Given the description of an element on the screen output the (x, y) to click on. 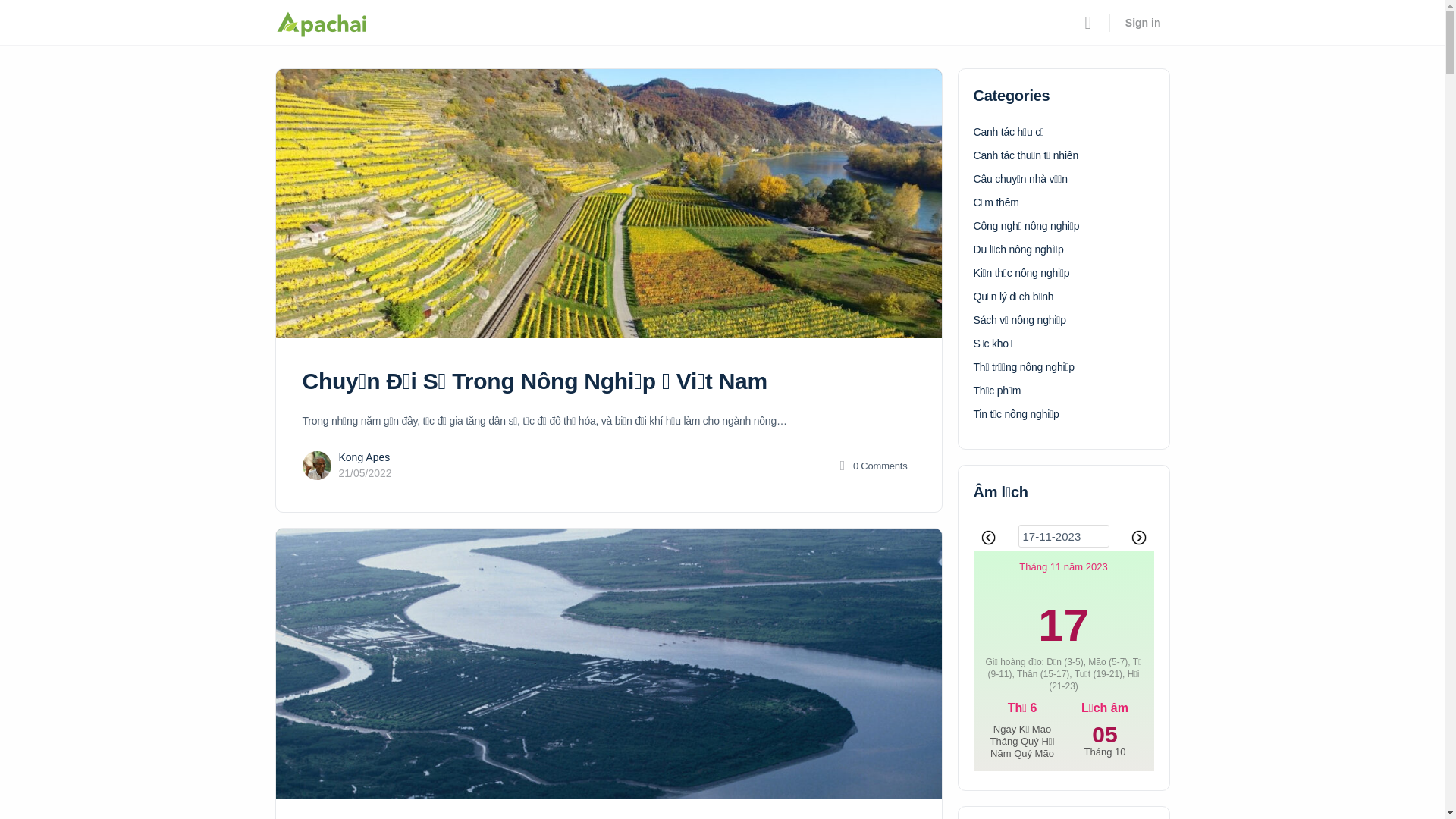
Kong Apes Element type: text (363, 457)
0 Comments Element type: text (871, 465)
21/05/2022 Element type: text (364, 473)
Sign in Element type: text (1143, 22)
